Given the description of an element on the screen output the (x, y) to click on. 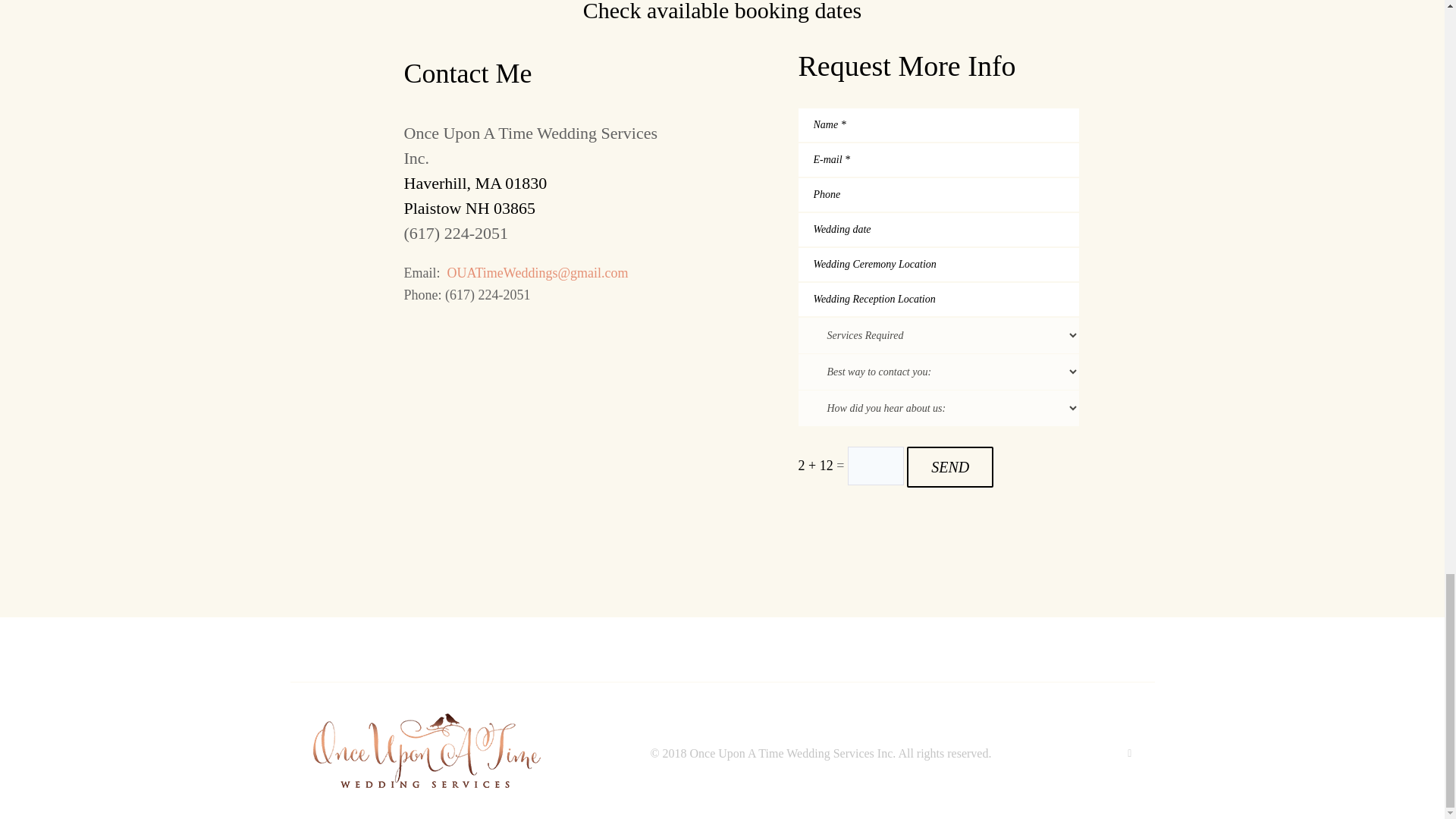
SEND (949, 466)
